Given the description of an element on the screen output the (x, y) to click on. 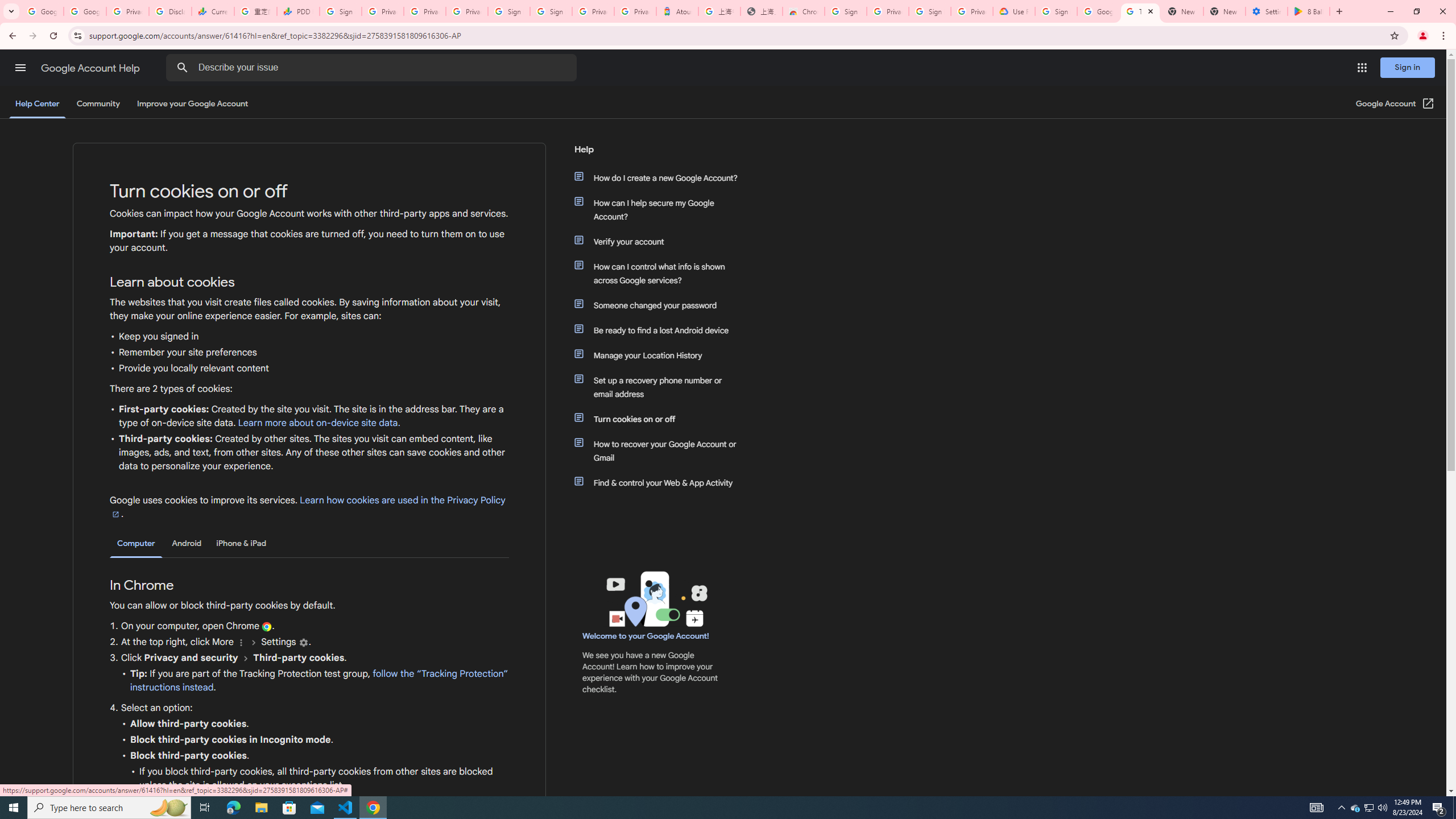
Welcome to your Google Account! (645, 635)
Sign in - Google Accounts (550, 11)
Google Account Help (91, 68)
Sign in - Google Accounts (340, 11)
Verify your account (661, 241)
Sign in - Google Accounts (509, 11)
More (241, 642)
Improve your Google Account (192, 103)
Currencies - Google Finance (212, 11)
Computer (136, 543)
